Given the description of an element on the screen output the (x, y) to click on. 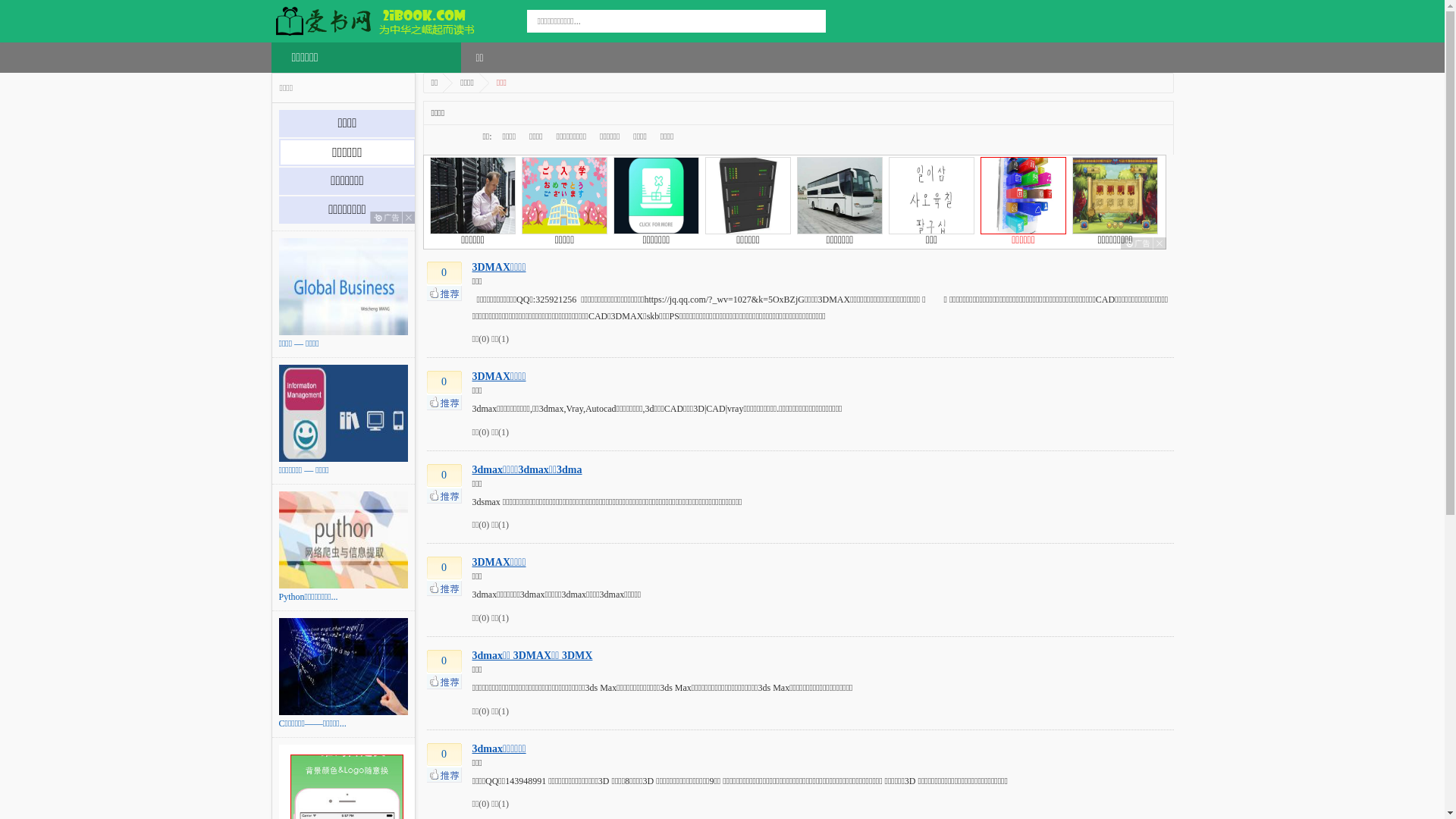
0 Element type: text (443, 762)
0 Element type: text (443, 281)
0 Element type: text (443, 483)
0 Element type: text (443, 576)
0 Element type: text (443, 390)
0 Element type: text (443, 669)
